Given the description of an element on the screen output the (x, y) to click on. 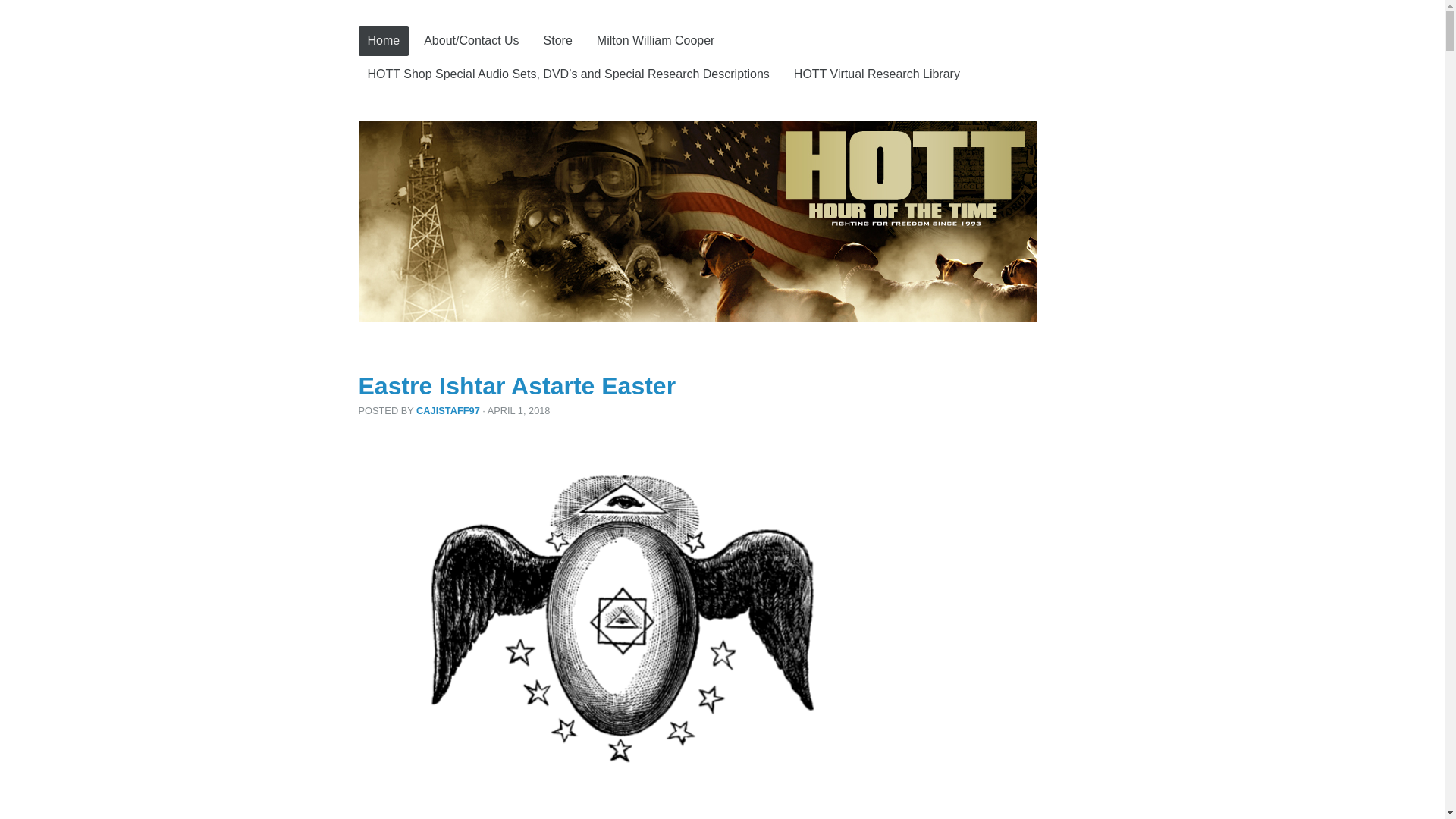
Home (383, 40)
CAJIstaff97 (448, 410)
HOTT Virtual Research Library (876, 73)
Milton William Cooper (655, 40)
Eastre Ishtar Astarte Easter (516, 385)
Store (557, 40)
CAJISTAFF97 (448, 410)
